Given the description of an element on the screen output the (x, y) to click on. 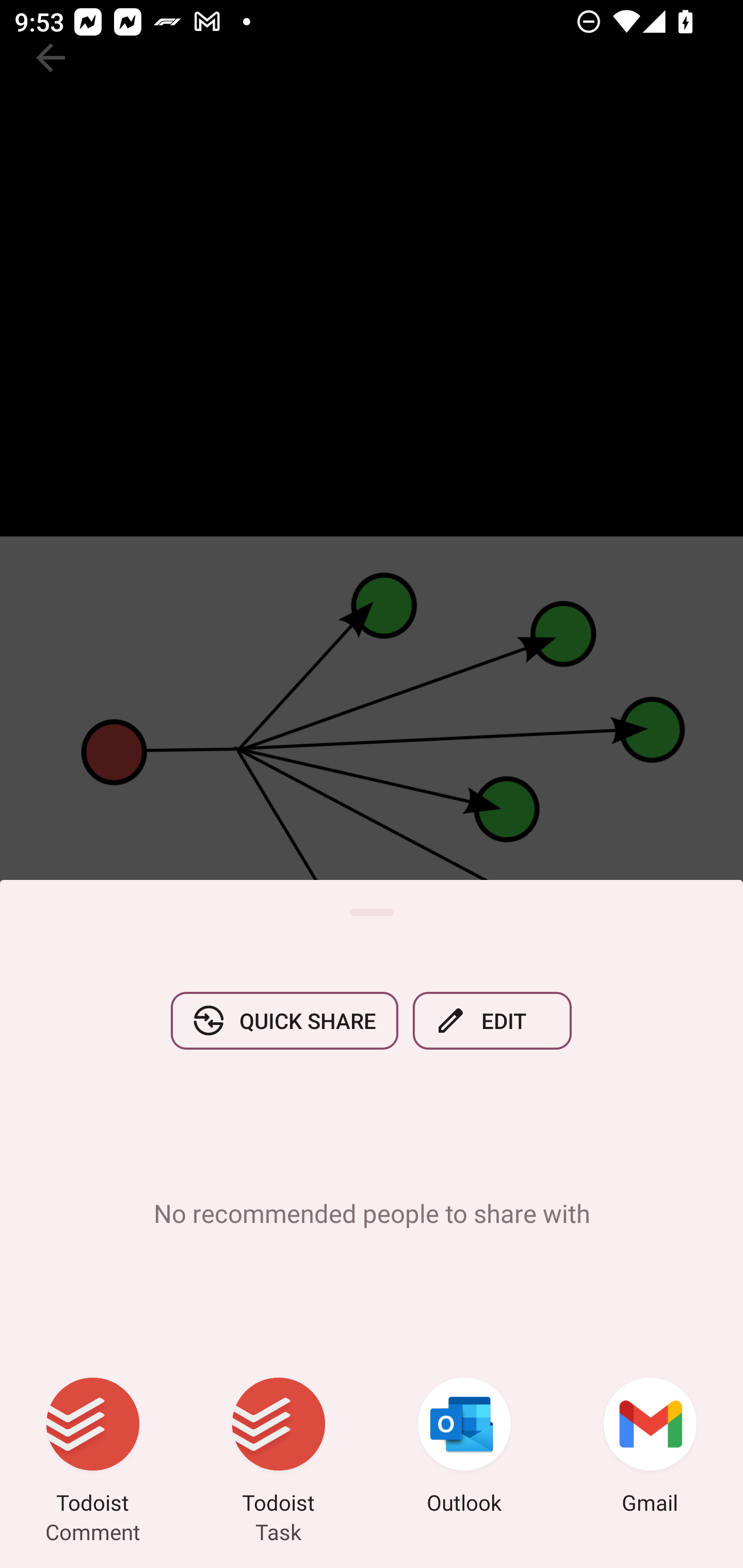
QUICK SHARE (284, 1020)
EDIT (492, 1020)
Todoist Comment (92, 1448)
Todoist Task (278, 1448)
Outlook (464, 1448)
Gmail (650, 1448)
